Given the description of an element on the screen output the (x, y) to click on. 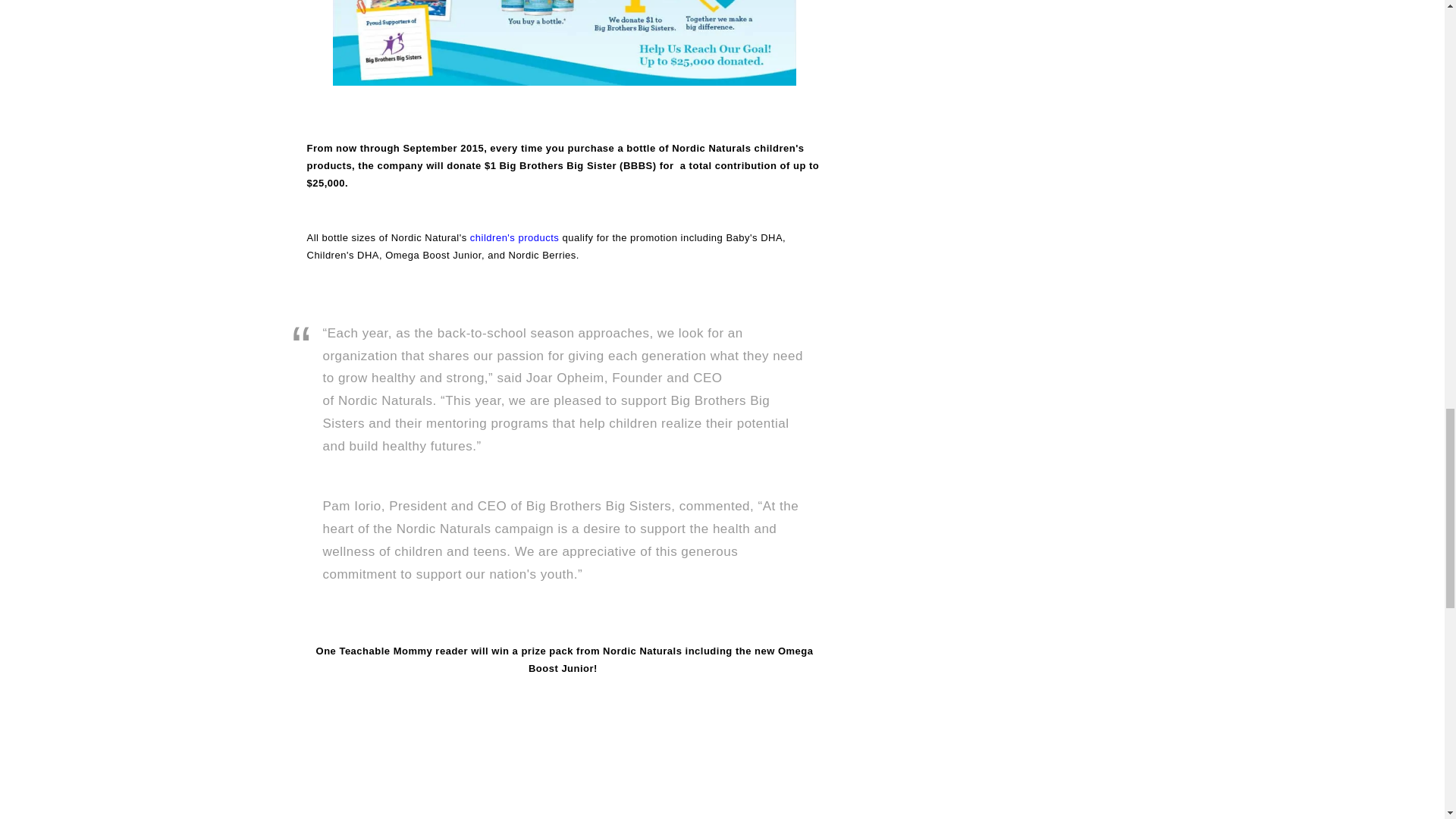
children's products (514, 237)
